Given the description of an element on the screen output the (x, y) to click on. 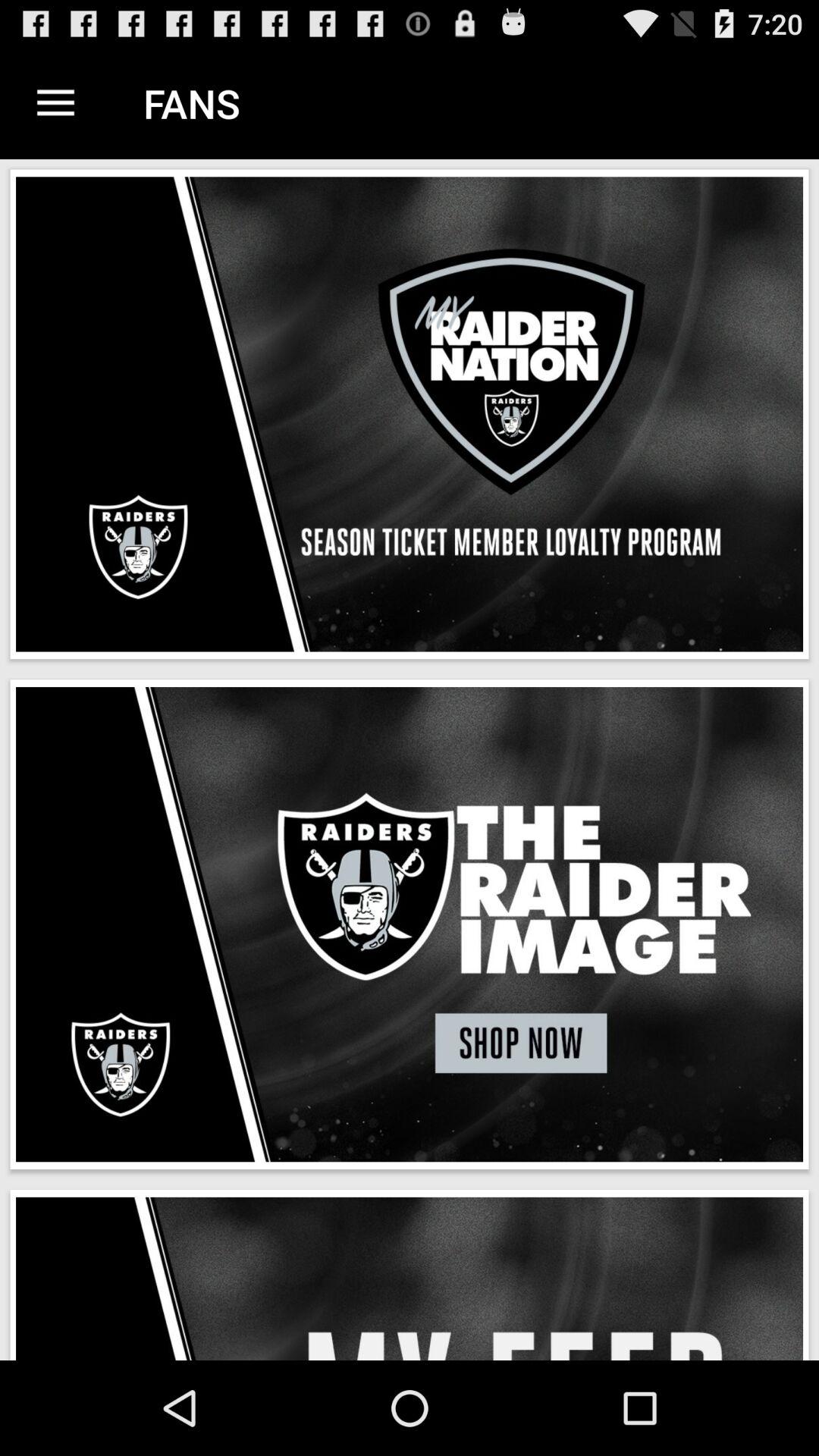
choose the app to the left of fans app (55, 103)
